Given the description of an element on the screen output the (x, y) to click on. 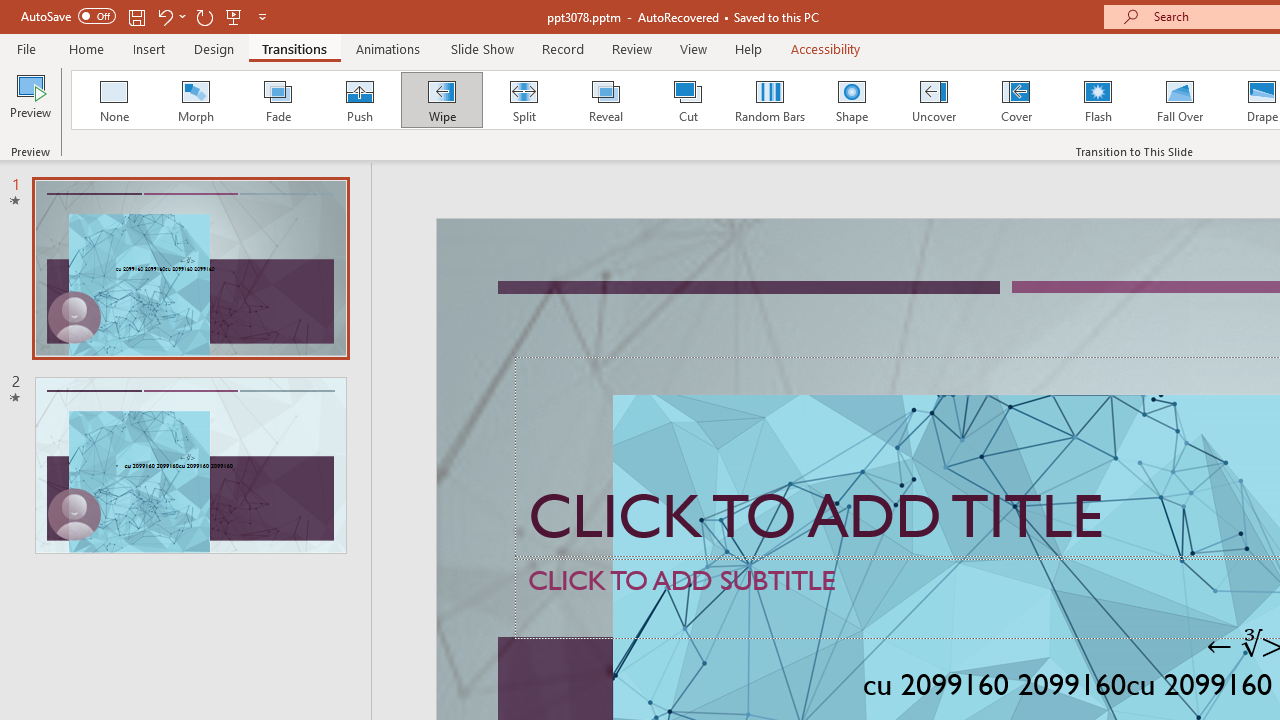
Accessibility (825, 48)
Reveal (605, 100)
Fade (277, 100)
Cut (687, 100)
Flash (1098, 100)
Preview (30, 102)
